Given the description of an element on the screen output the (x, y) to click on. 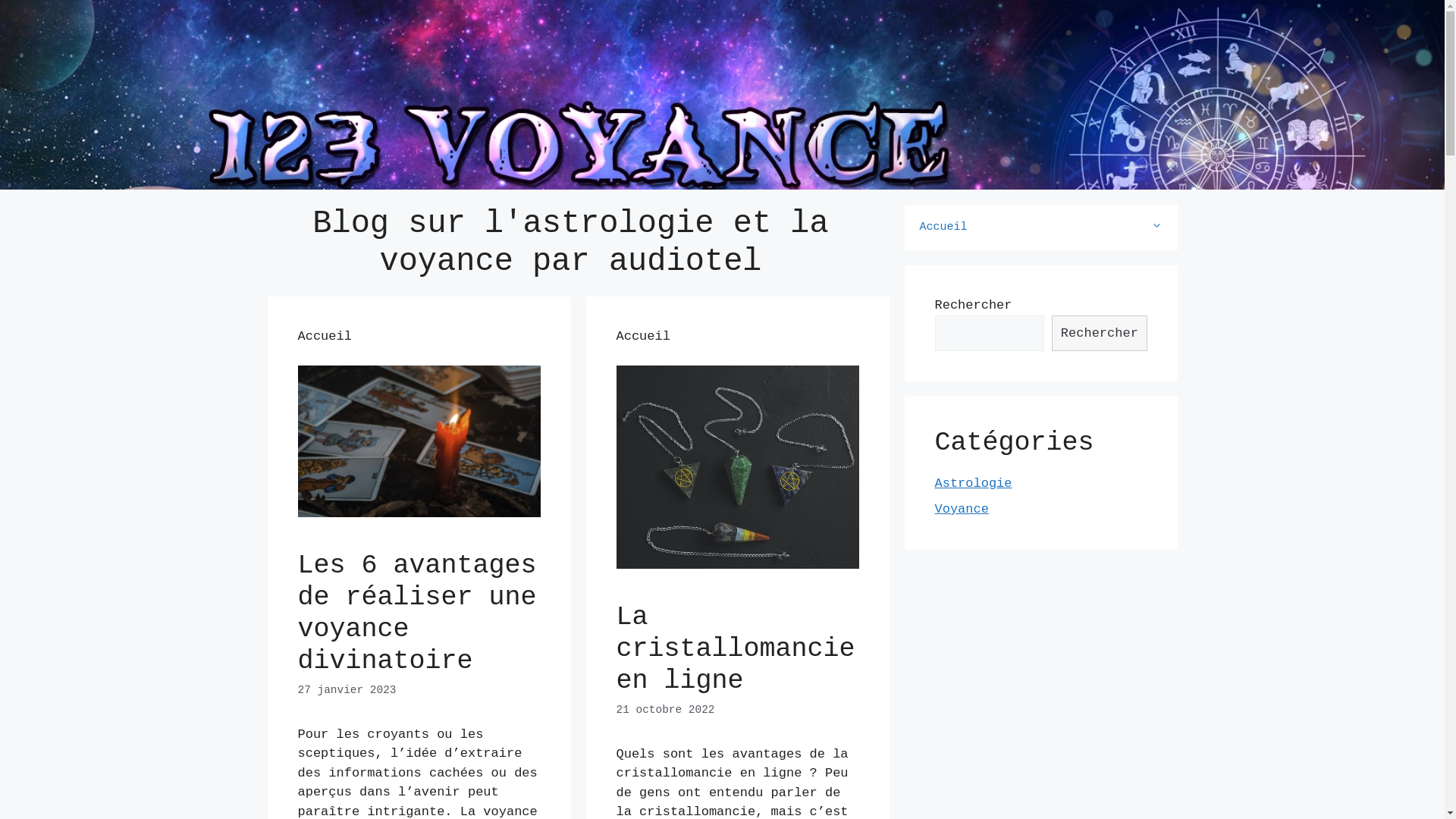
Rechercher Element type: text (1098, 333)
Accueil Element type: text (1039, 227)
Voyance Element type: text (961, 509)
La cristallomancie en ligne Element type: text (734, 649)
Astrologie Element type: text (972, 483)
